Given the description of an element on the screen output the (x, y) to click on. 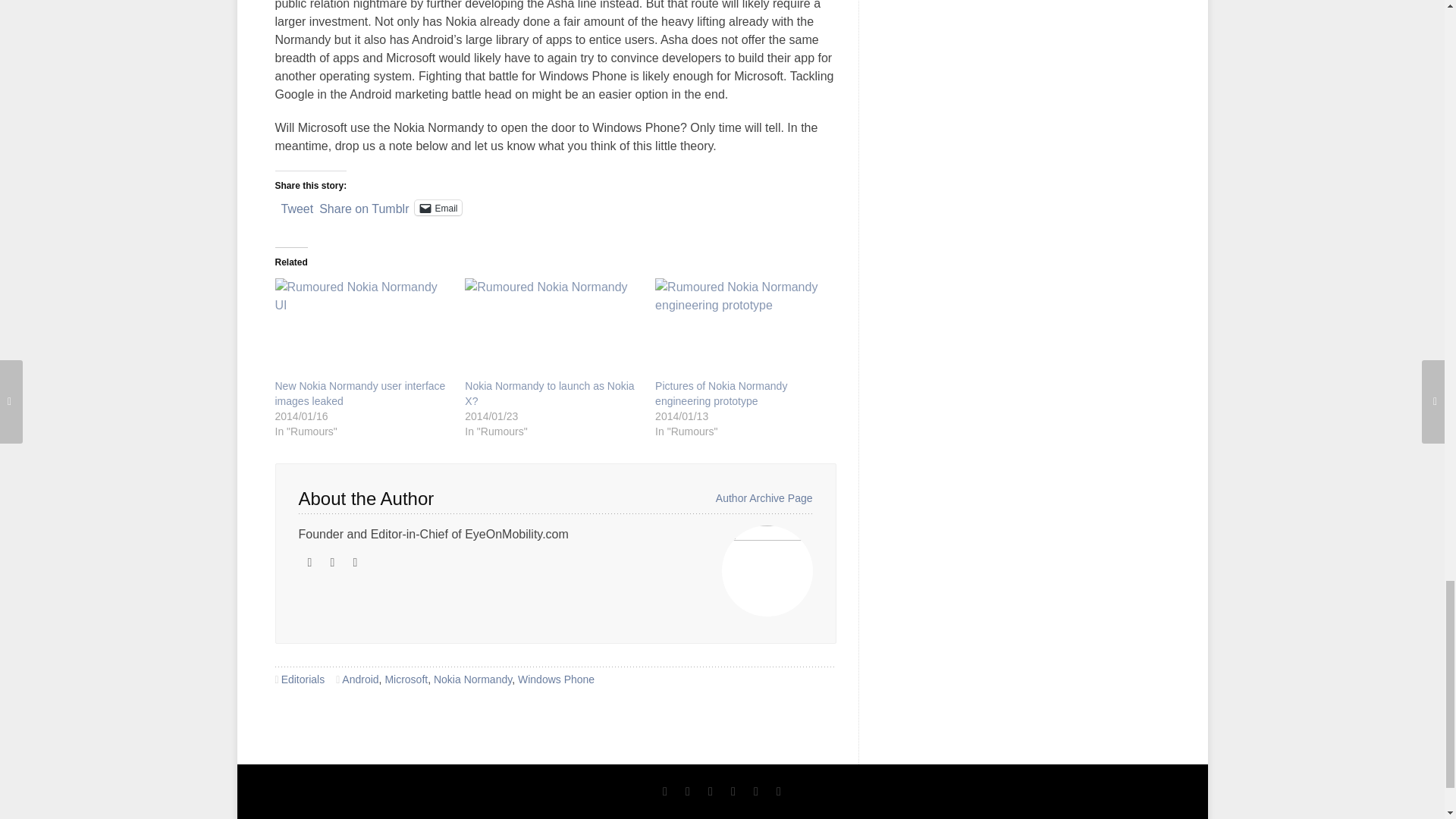
Author Archive Page (764, 498)
Android (360, 679)
Windows Phone (556, 679)
Nokia Normandy to launch as Nokia X? (548, 393)
Nokia Normandy (472, 679)
Pictures of Nokia Normandy engineering prototype (721, 393)
Nokia Normandy to launch as Nokia X? (552, 328)
Share on Tumblr (363, 206)
Pictures of Nokia Normandy engineering prototype (742, 328)
Email (437, 207)
Editorials (302, 679)
New Nokia Normandy user interface images leaked (360, 393)
Microsoft (406, 679)
New Nokia Normandy user interface images leaked (362, 328)
Nokia Normandy to launch as Nokia X? (548, 393)
